Given the description of an element on the screen output the (x, y) to click on. 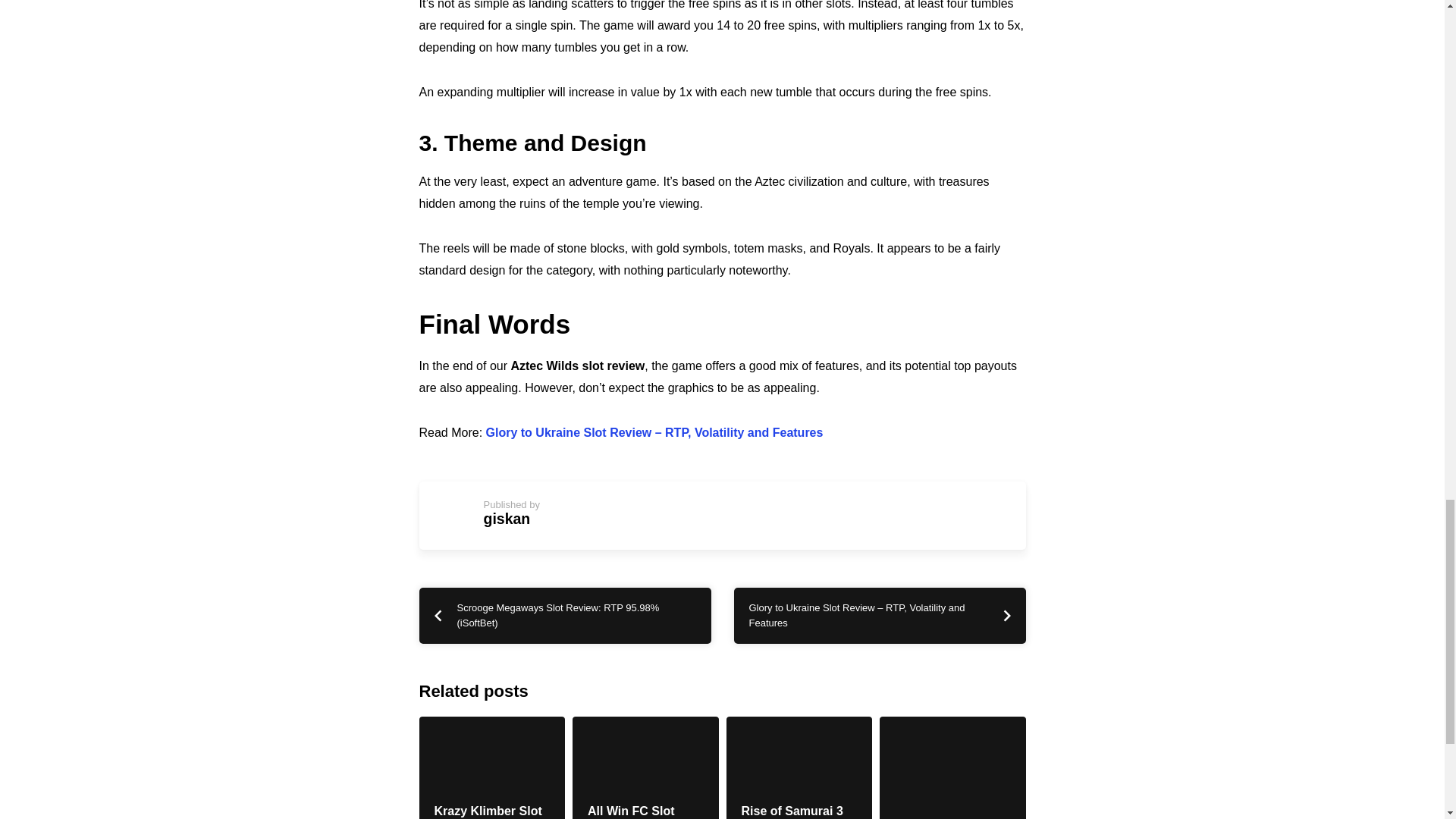
giskan (507, 518)
